Given the description of an element on the screen output the (x, y) to click on. 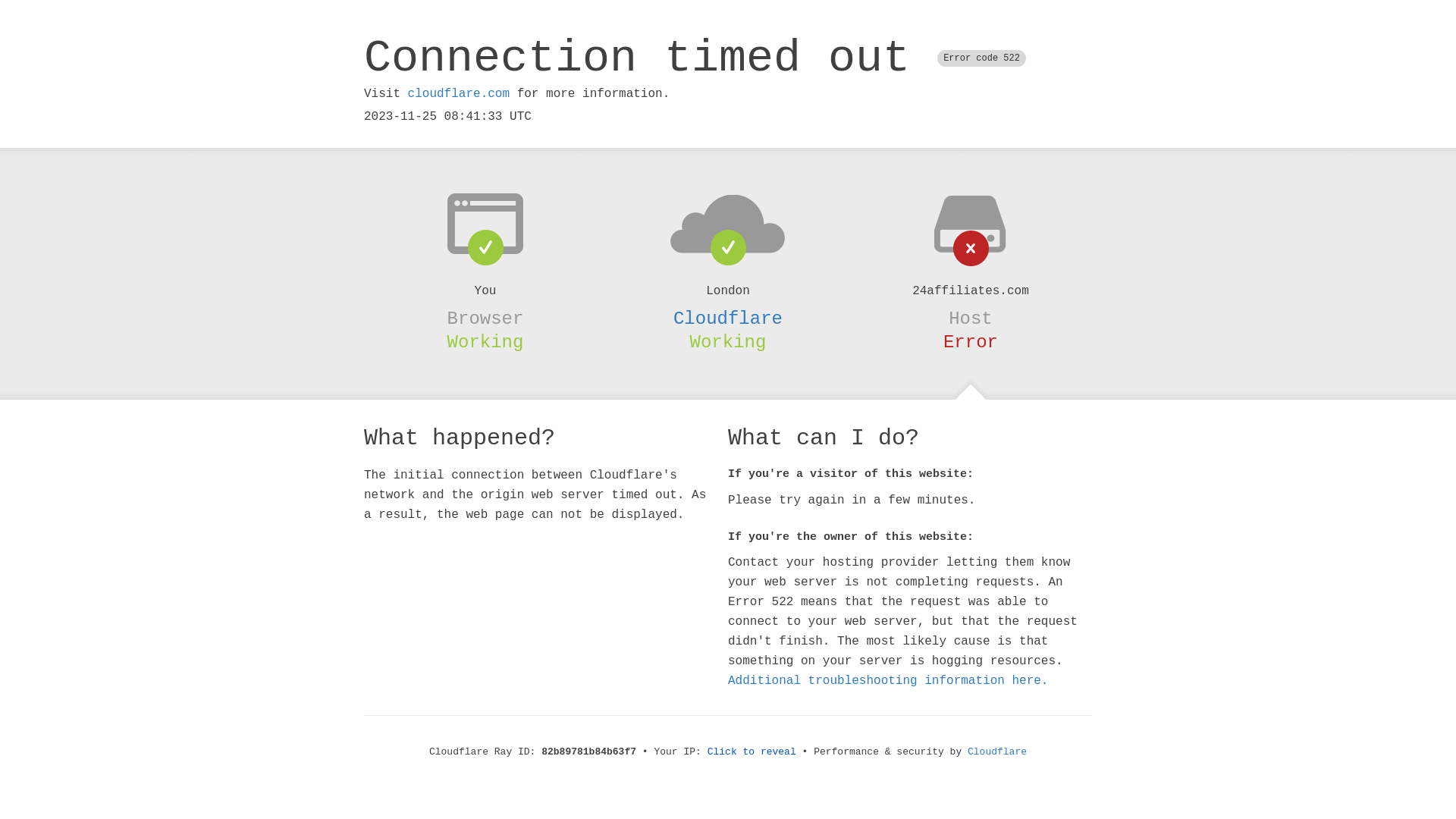
Cloudflare Element type: text (996, 751)
Cloudflare Element type: text (727, 318)
Click to reveal Element type: text (751, 751)
cloudflare.com Element type: text (458, 93)
Additional troubleshooting information here. Element type: text (888, 680)
